Given the description of an element on the screen output the (x, y) to click on. 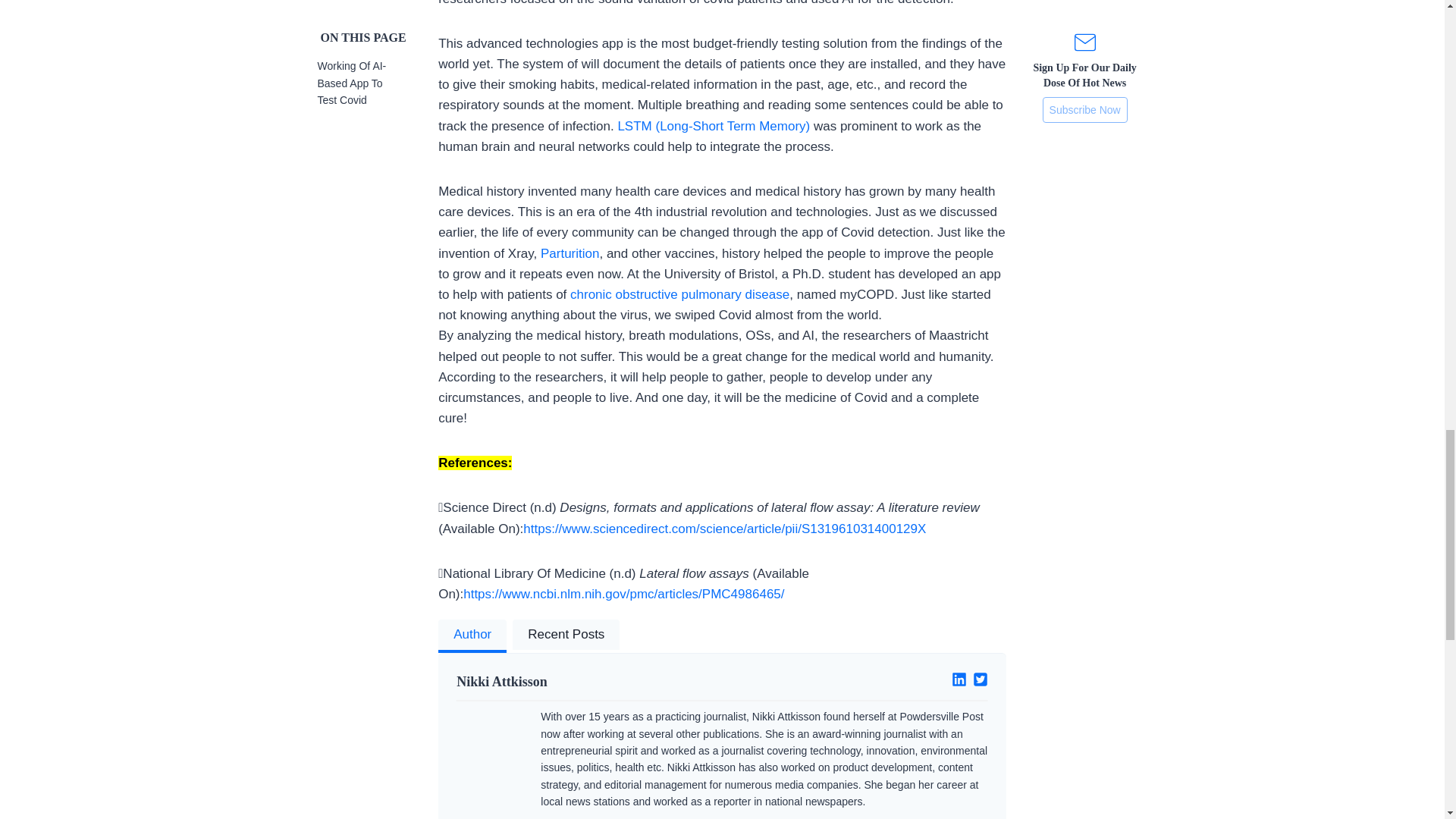
Nikki Attkisson (583, 681)
Recent Posts (566, 635)
chronic obstructive pulmonary disease (679, 294)
Parturition (569, 253)
Author (472, 635)
